Given the description of an element on the screen output the (x, y) to click on. 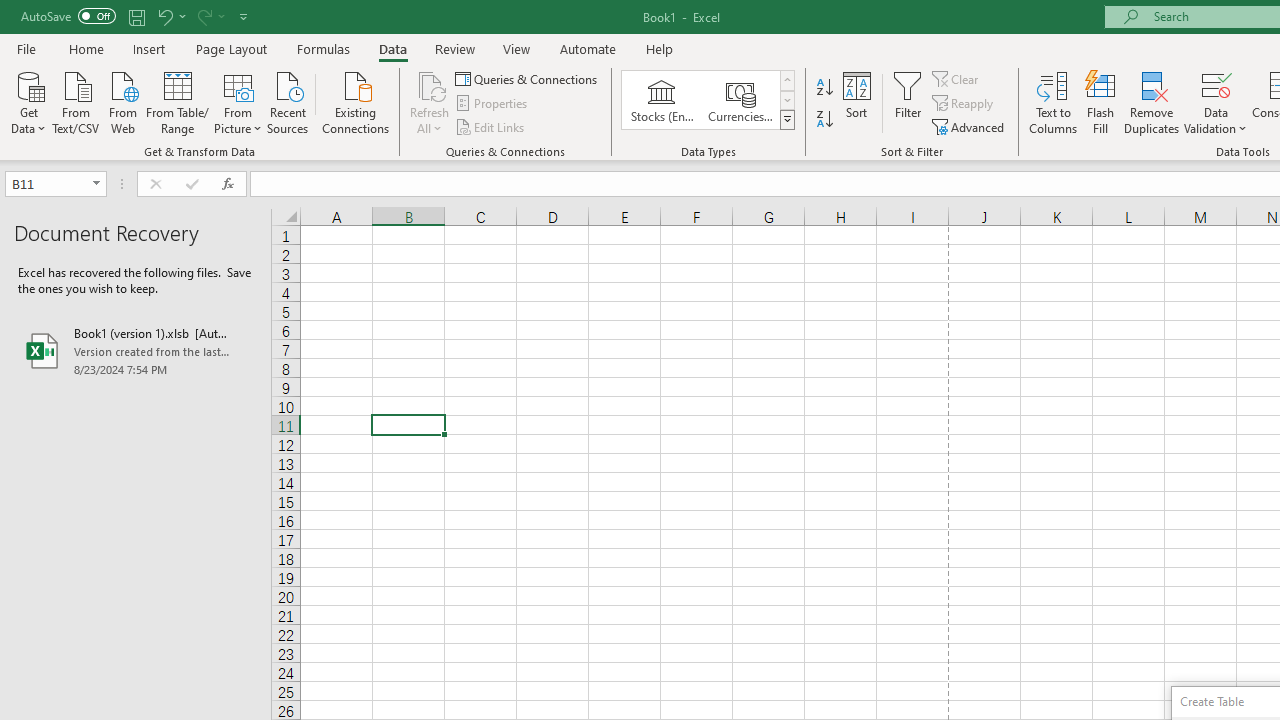
Edit Links (491, 126)
Data Validation... (1215, 84)
Get Data (28, 101)
Book1 (version 1).xlsb  [AutoRecovered] (136, 350)
Refresh All (429, 84)
Queries & Connections (527, 78)
AutoSave (68, 16)
Stocks (English) (662, 100)
